Given the description of an element on the screen output the (x, y) to click on. 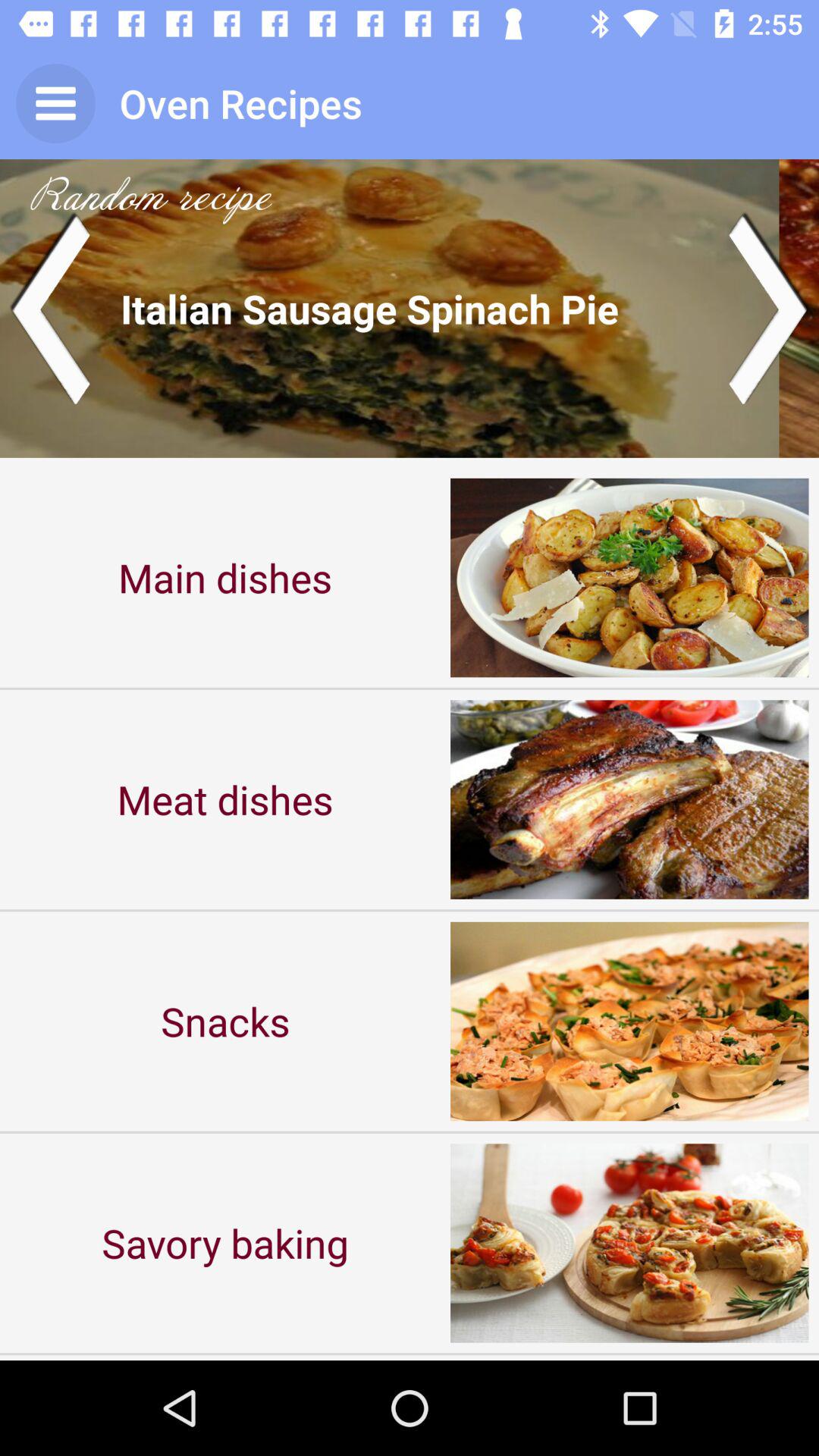
scroll until the savory baking (225, 1242)
